Given the description of an element on the screen output the (x, y) to click on. 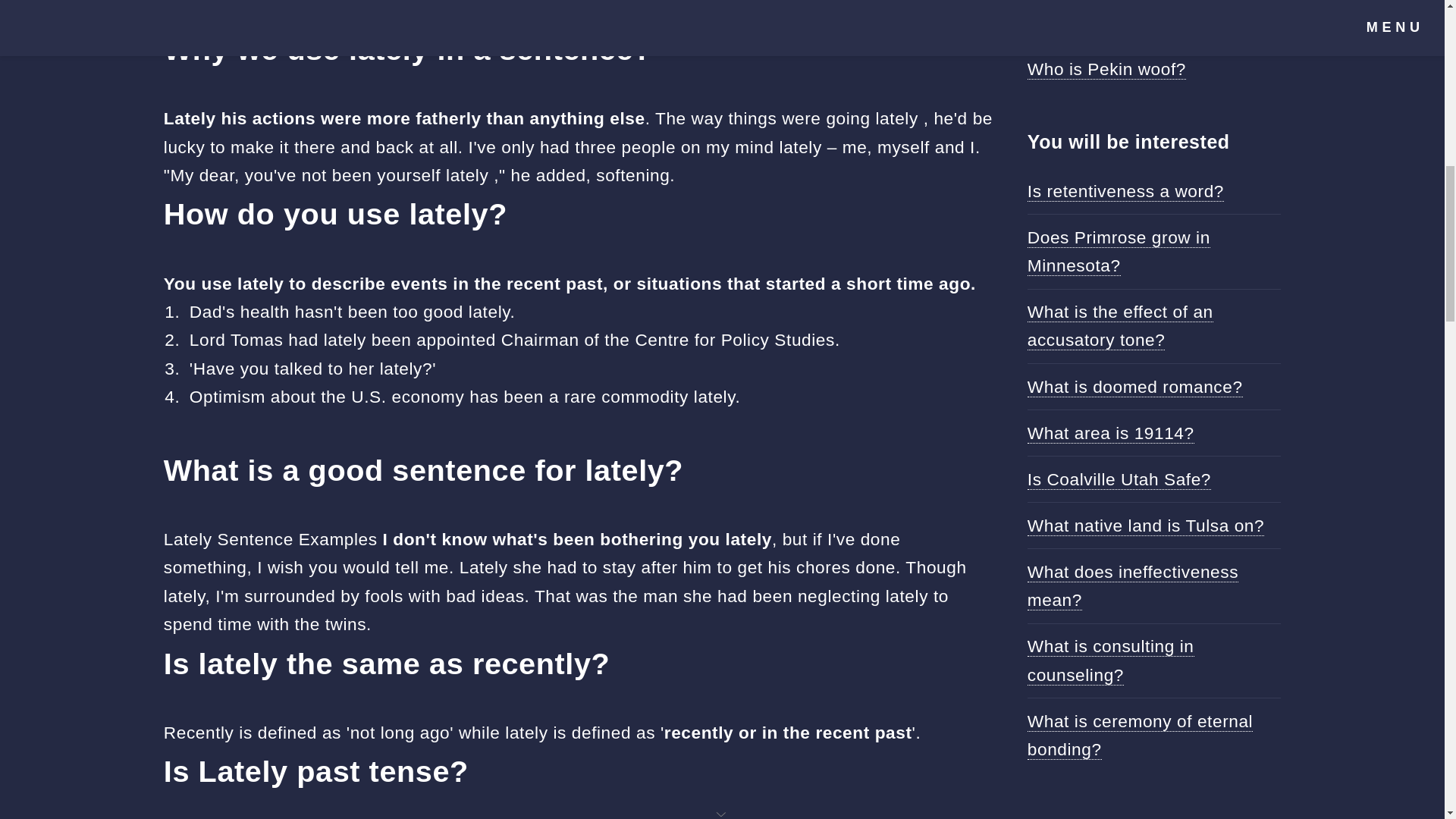
Is retentiveness a word? (1125, 190)
Does K. Michelle have a son? (1146, 23)
Who is Pekin woof? (1106, 68)
